Given the description of an element on the screen output the (x, y) to click on. 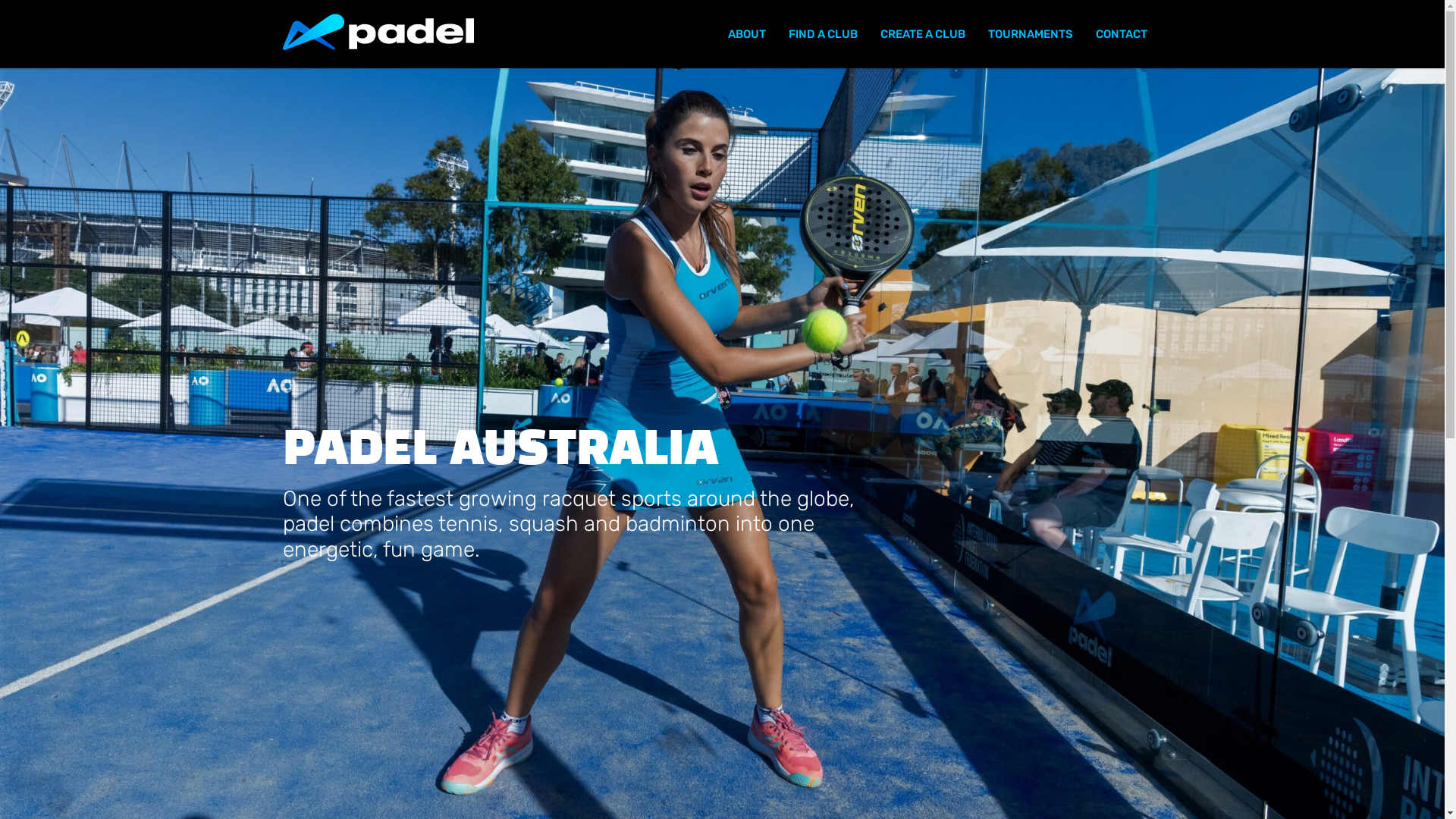
ABOUT Element type: text (745, 33)
TOURNAMENTS Element type: text (1030, 33)
FIND A CLUB Element type: text (822, 33)
CONTACT Element type: text (1121, 33)
CREATE A CLUB Element type: text (922, 33)
